Given the description of an element on the screen output the (x, y) to click on. 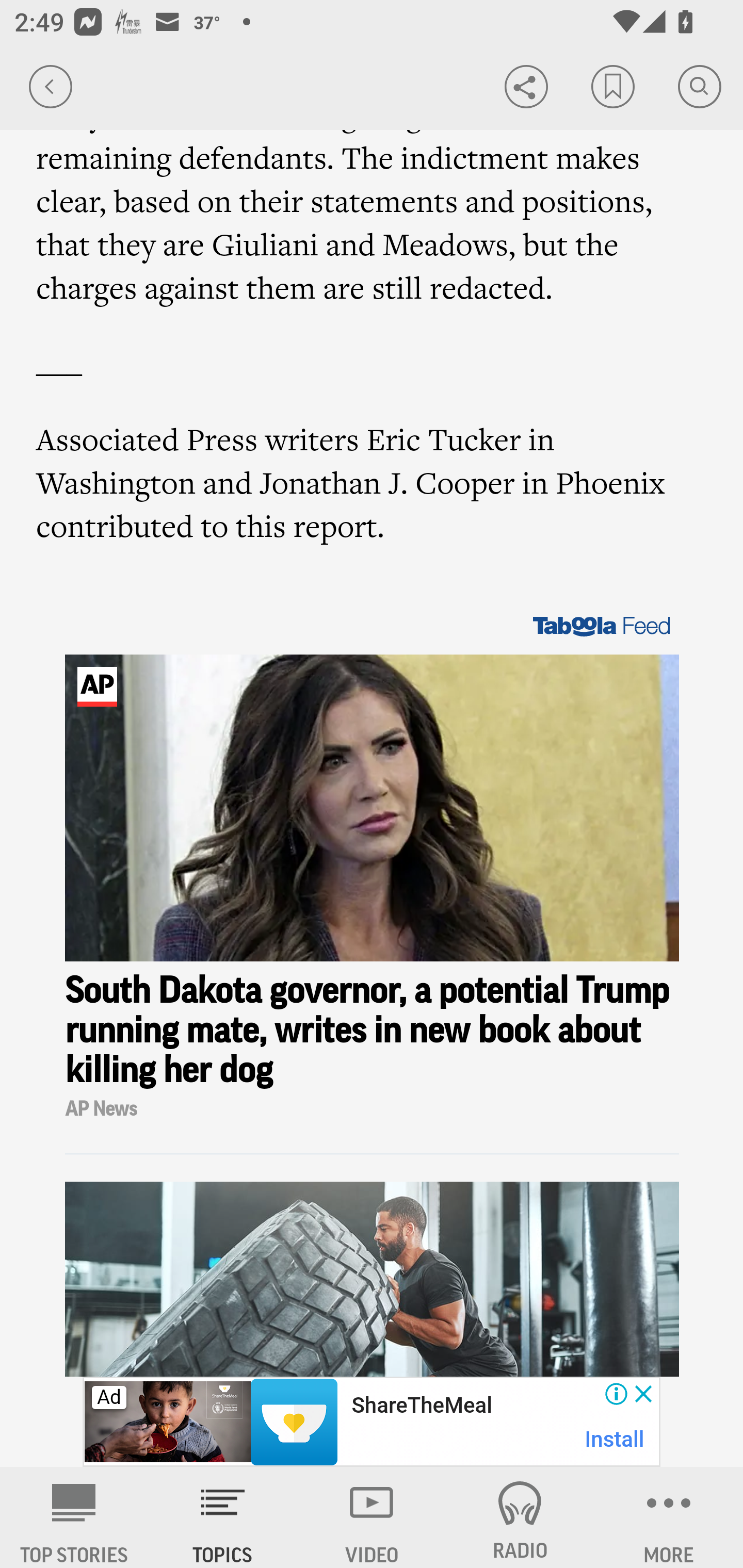
Image for Taboola Advertising Unit (372, 807)
ShareTheMeal (420, 1405)
Install (614, 1438)
AP News TOP STORIES (74, 1517)
TOPICS (222, 1517)
VIDEO (371, 1517)
RADIO (519, 1517)
MORE (668, 1517)
